Given the description of an element on the screen output the (x, y) to click on. 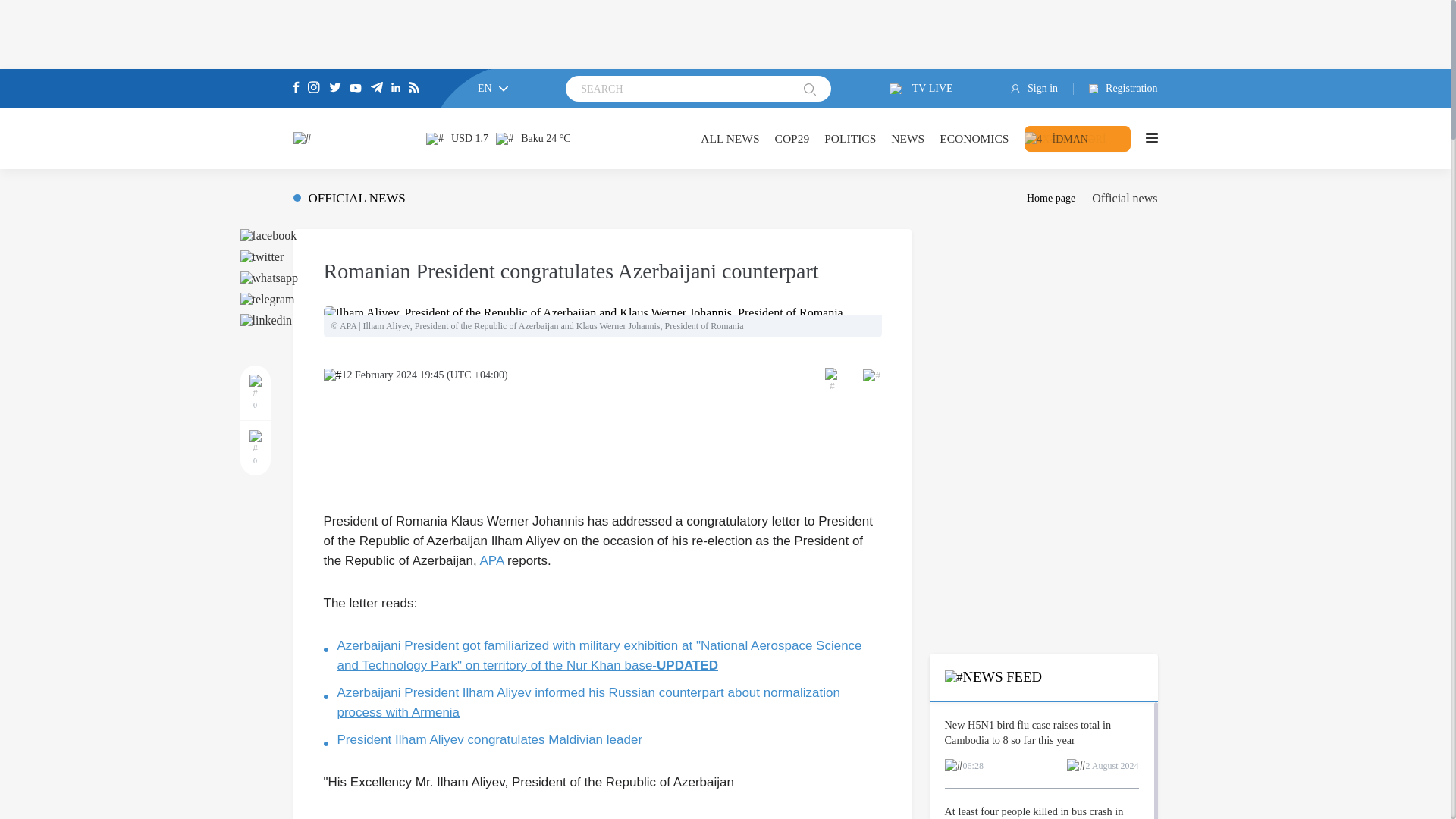
TV LIVE (921, 88)
COP29 (791, 138)
Registration (1115, 88)
ALL NEWS (729, 138)
NEWS (907, 138)
POLITICS (850, 138)
ECONOMICS (974, 138)
USD 1.7 (456, 138)
Sign in (1042, 88)
